Given the description of an element on the screen output the (x, y) to click on. 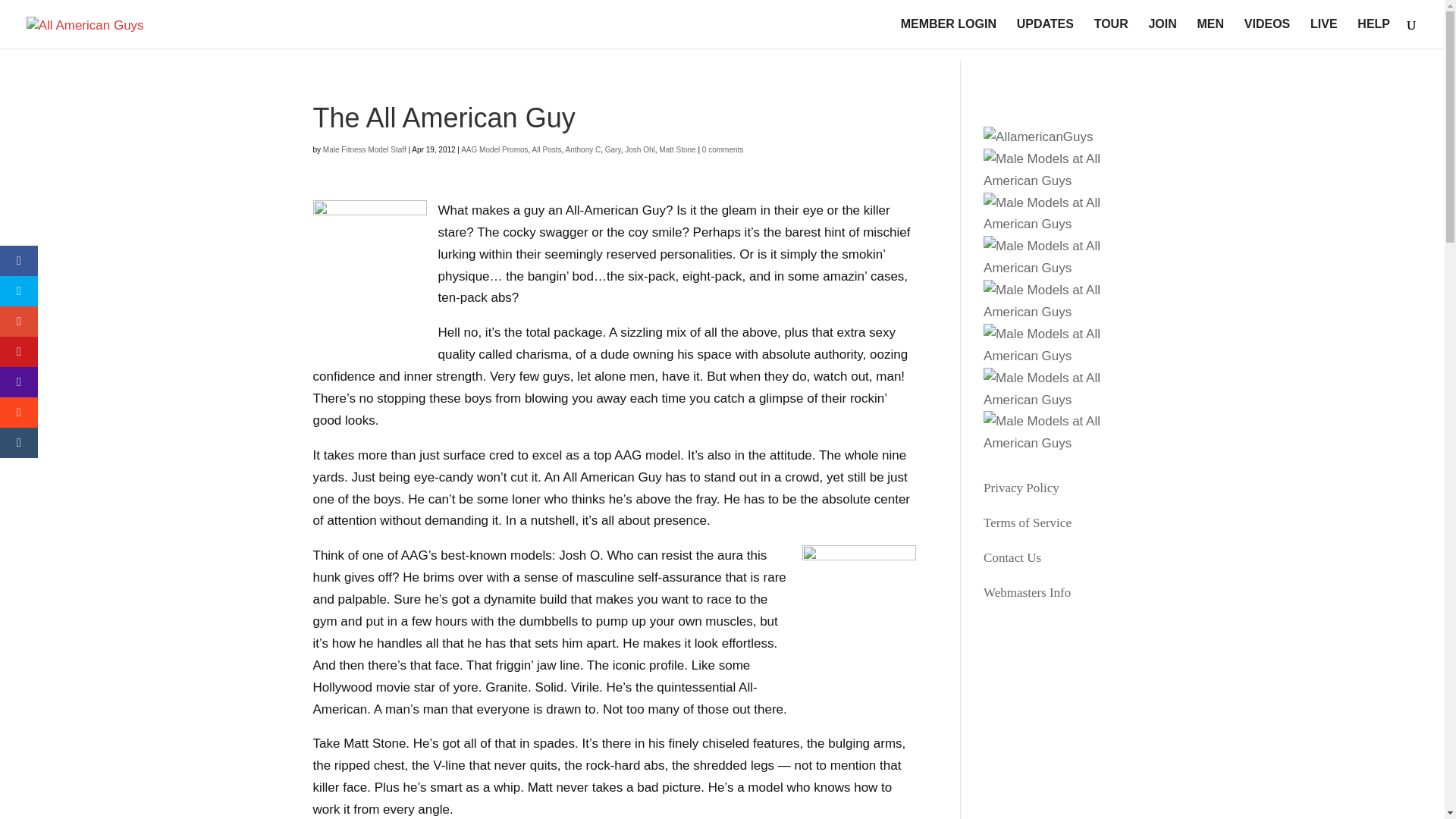
Gary (613, 149)
Josh Ohl (638, 149)
Male Fitness Model Staff (364, 149)
HELP (1373, 33)
Posts by Male Fitness Model Staff (364, 149)
All Posts (547, 149)
VIDEOS (1267, 33)
TOUR (1111, 33)
0 comments (721, 149)
LIVE (1324, 33)
Privacy Policy (1021, 487)
Matt Stone (677, 149)
UPDATES (1045, 33)
MEN (1210, 33)
Anthony C (583, 149)
